Given the description of an element on the screen output the (x, y) to click on. 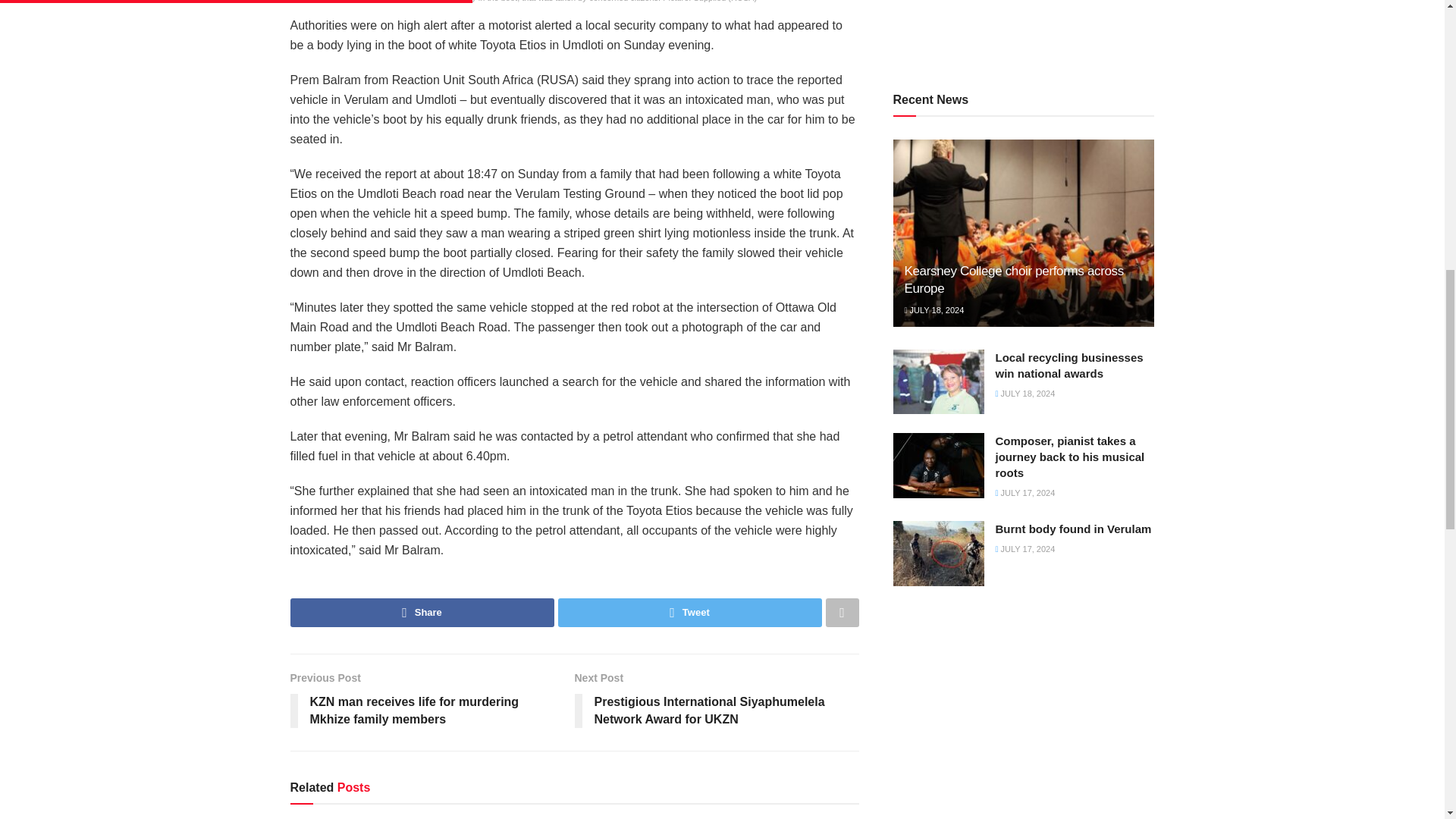
3rd party ad content (1023, 28)
Share (421, 612)
Tweet (689, 612)
